Given the description of an element on the screen output the (x, y) to click on. 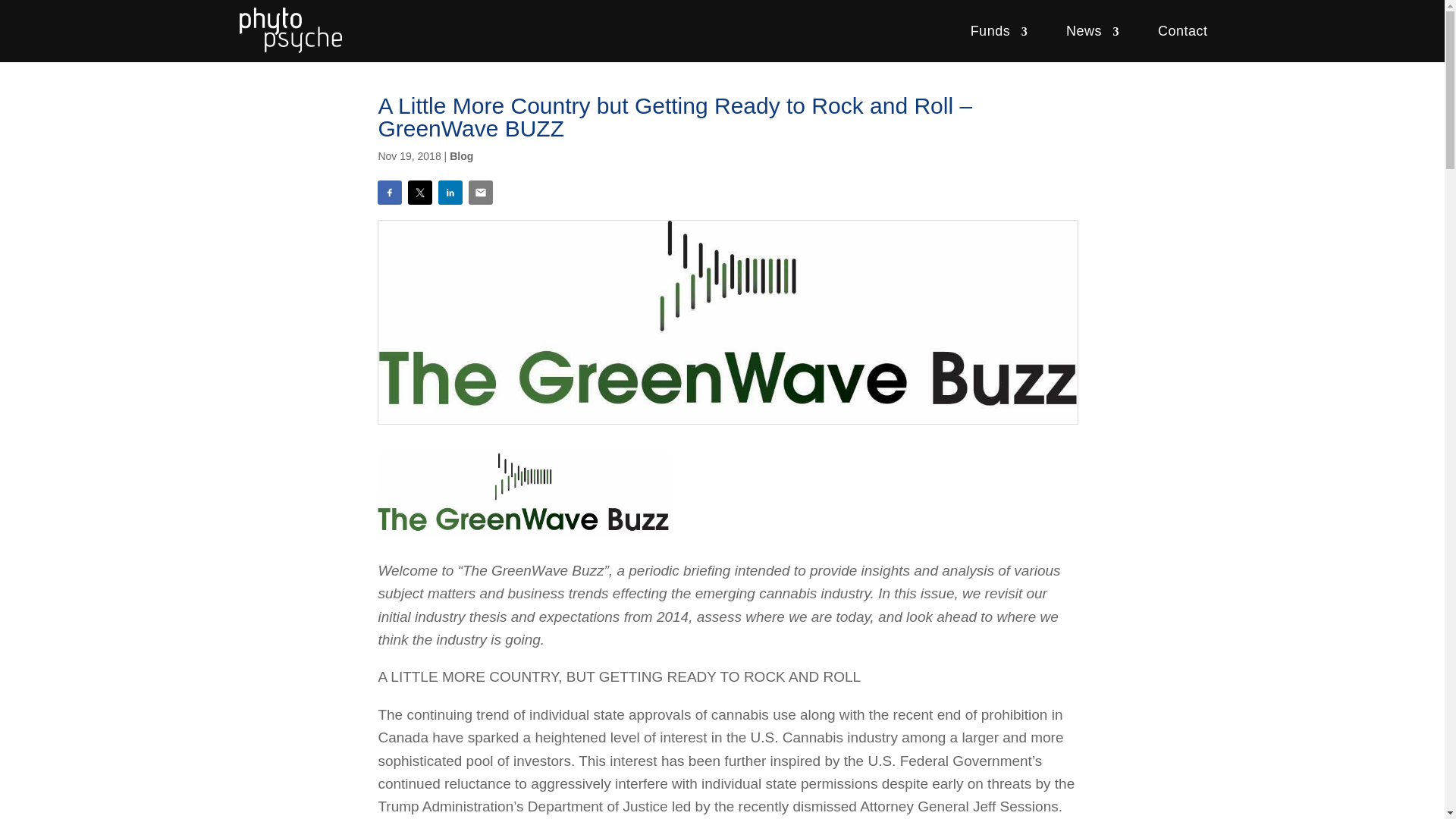
Funds (998, 31)
Blog (461, 155)
